Given the description of an element on the screen output the (x, y) to click on. 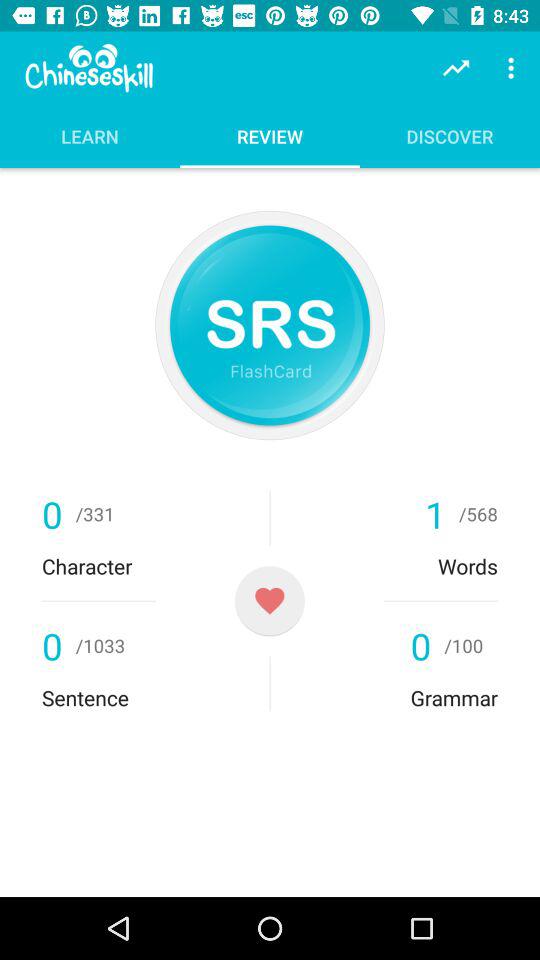
start flash card review (270, 325)
